Given the description of an element on the screen output the (x, y) to click on. 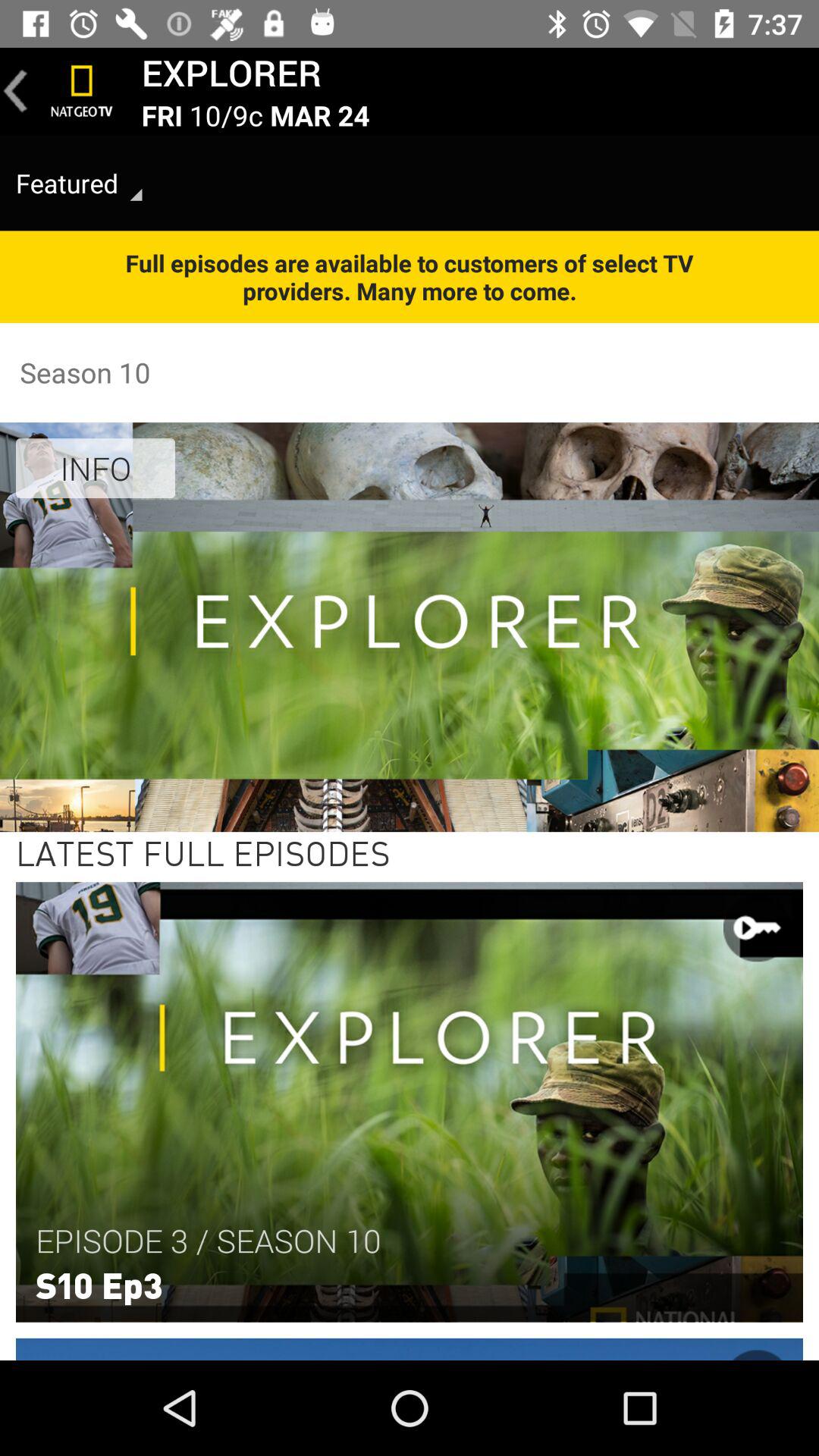
flip to episode 3 season (208, 1240)
